Given the description of an element on the screen output the (x, y) to click on. 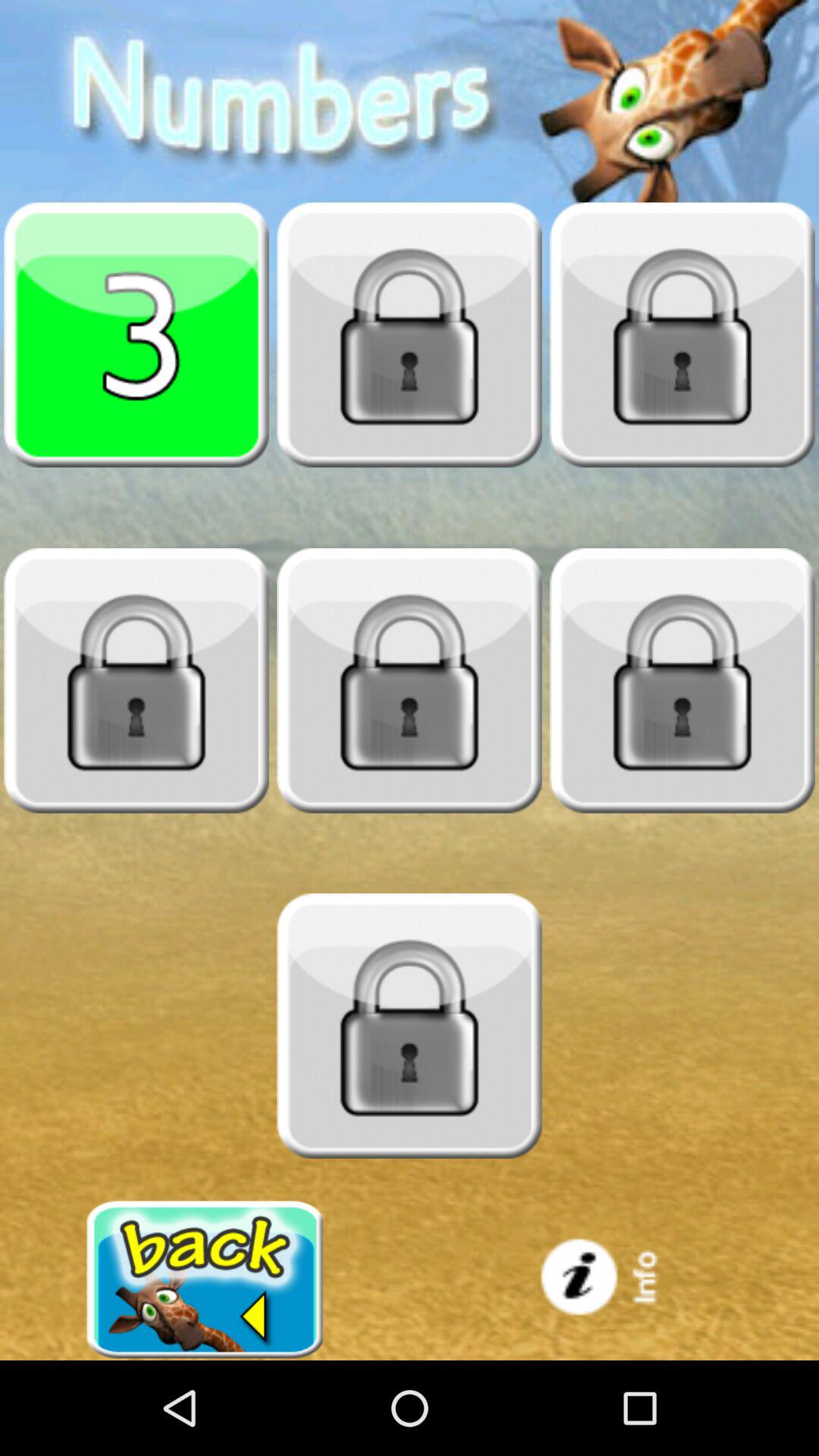
blocked (682, 334)
